Given the description of an element on the screen output the (x, y) to click on. 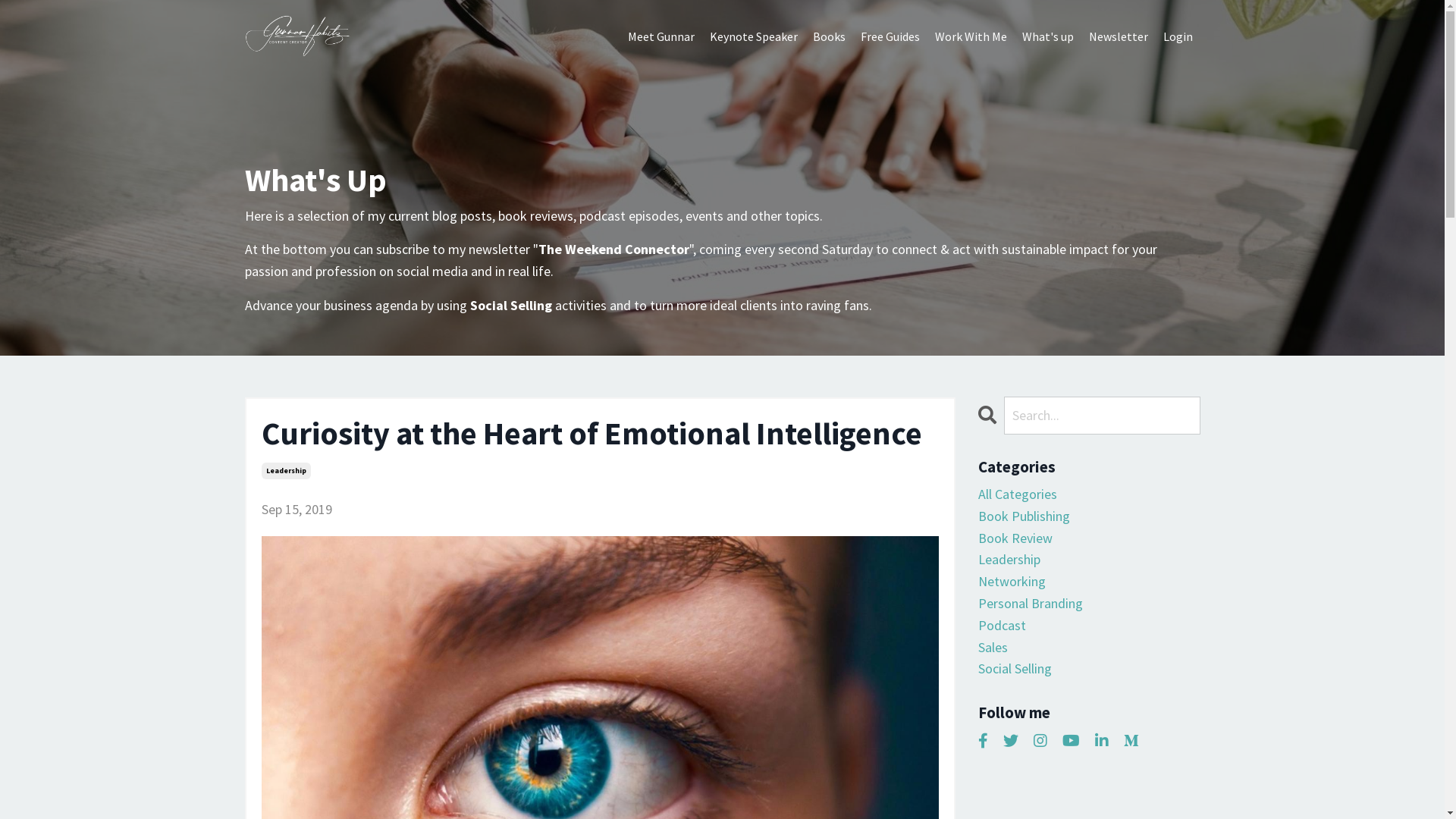
Sales Element type: text (1089, 647)
Meet Gunnar Element type: text (660, 37)
All Categories Element type: text (1089, 494)
Free Guides Element type: text (889, 37)
Networking Element type: text (1089, 582)
Keynote Speaker Element type: text (753, 37)
Social Selling Element type: text (1089, 669)
Leadership Element type: text (285, 470)
Work With Me Element type: text (970, 37)
Book Review Element type: text (1089, 538)
Login Element type: text (1177, 35)
Podcast Element type: text (1089, 626)
Personal Branding Element type: text (1089, 604)
Books Element type: text (828, 37)
Book Publishing Element type: text (1089, 516)
Newsletter Element type: text (1118, 37)
What's up Element type: text (1047, 37)
Leadership Element type: text (1089, 560)
